Given the description of an element on the screen output the (x, y) to click on. 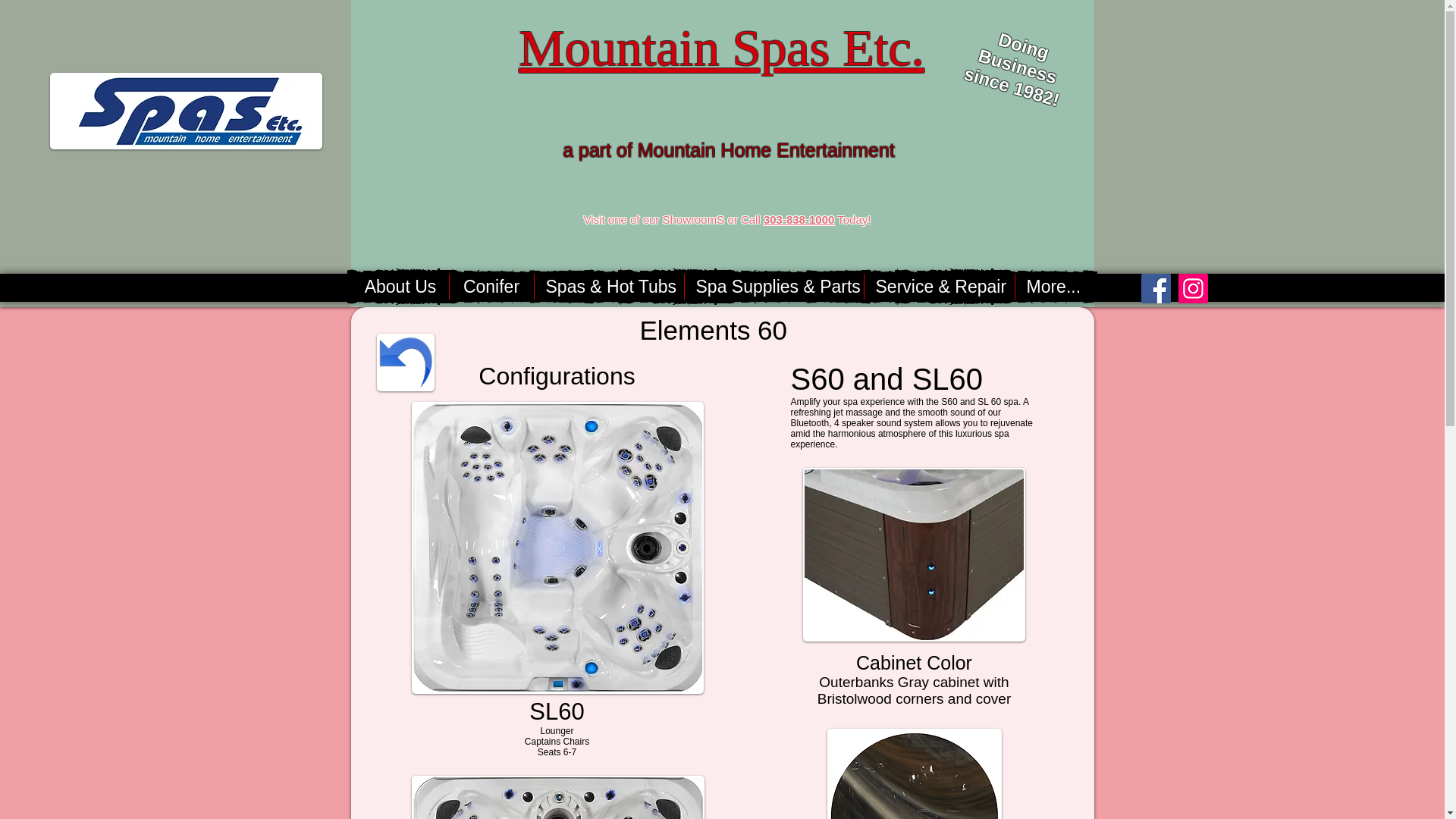
blue-arrow-iconleft.png (404, 362)
Conifer (491, 286)
Mountain Spas Etc. (721, 47)
About Us (400, 286)
303-838-1000 (798, 219)
